Given the description of an element on the screen output the (x, y) to click on. 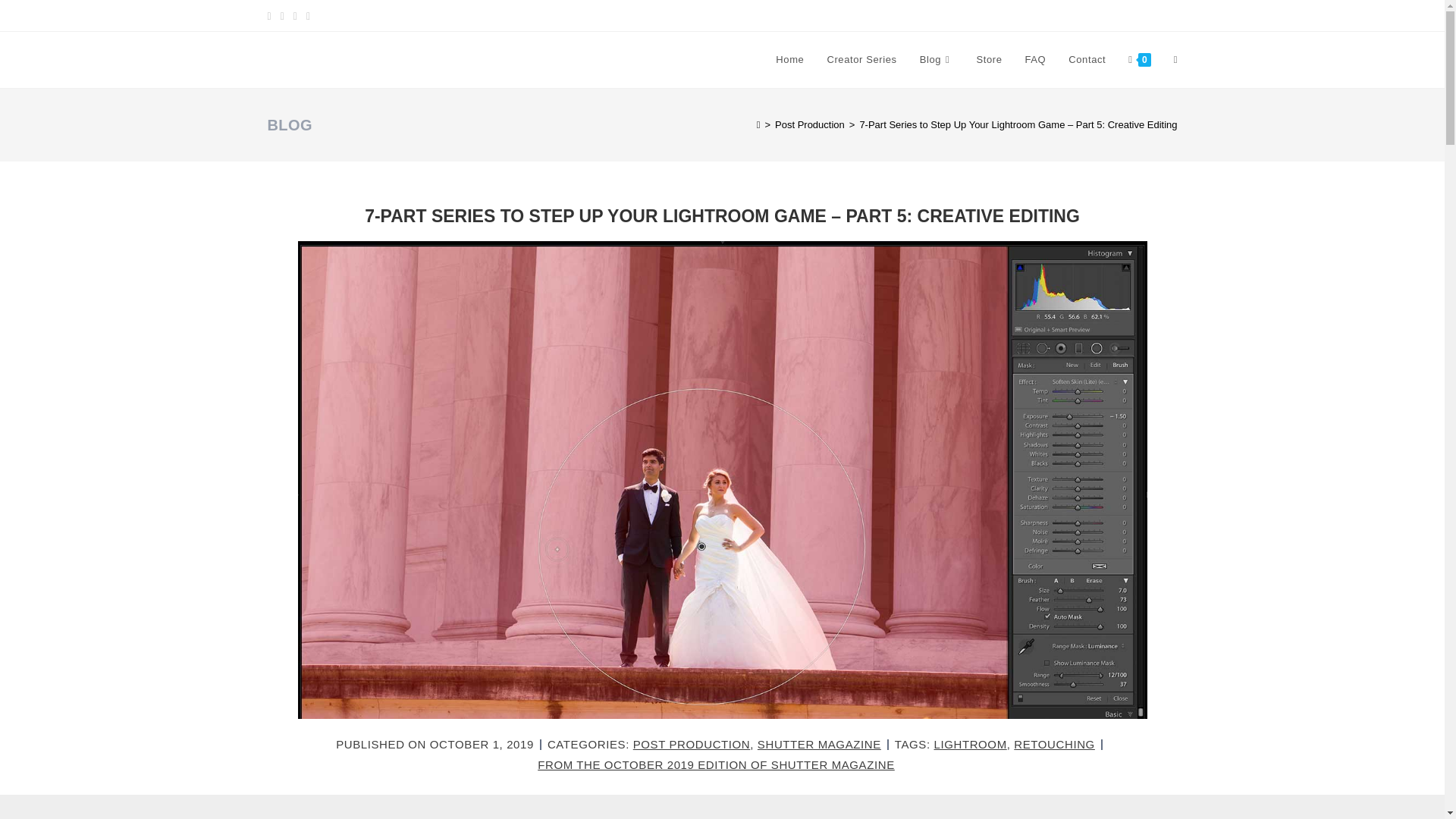
Log In (1146, 15)
Blog (936, 59)
Creator Series (861, 59)
Contact (1086, 59)
Sign Up (988, 15)
Home (789, 59)
Free Digital Magazine (1069, 15)
